Given the description of an element on the screen output the (x, y) to click on. 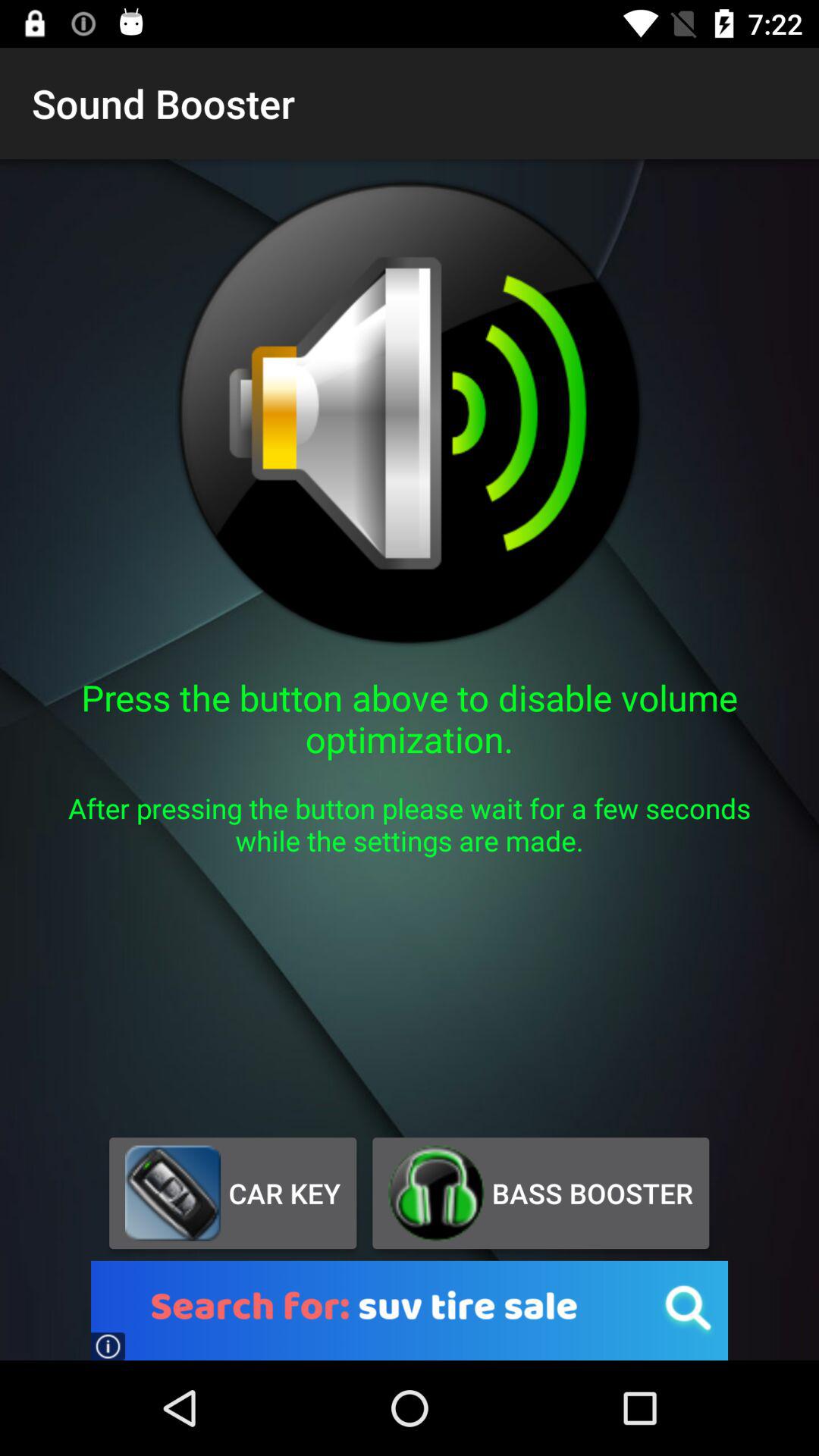
tap the app below the after pressing the app (232, 1192)
